Given the description of an element on the screen output the (x, y) to click on. 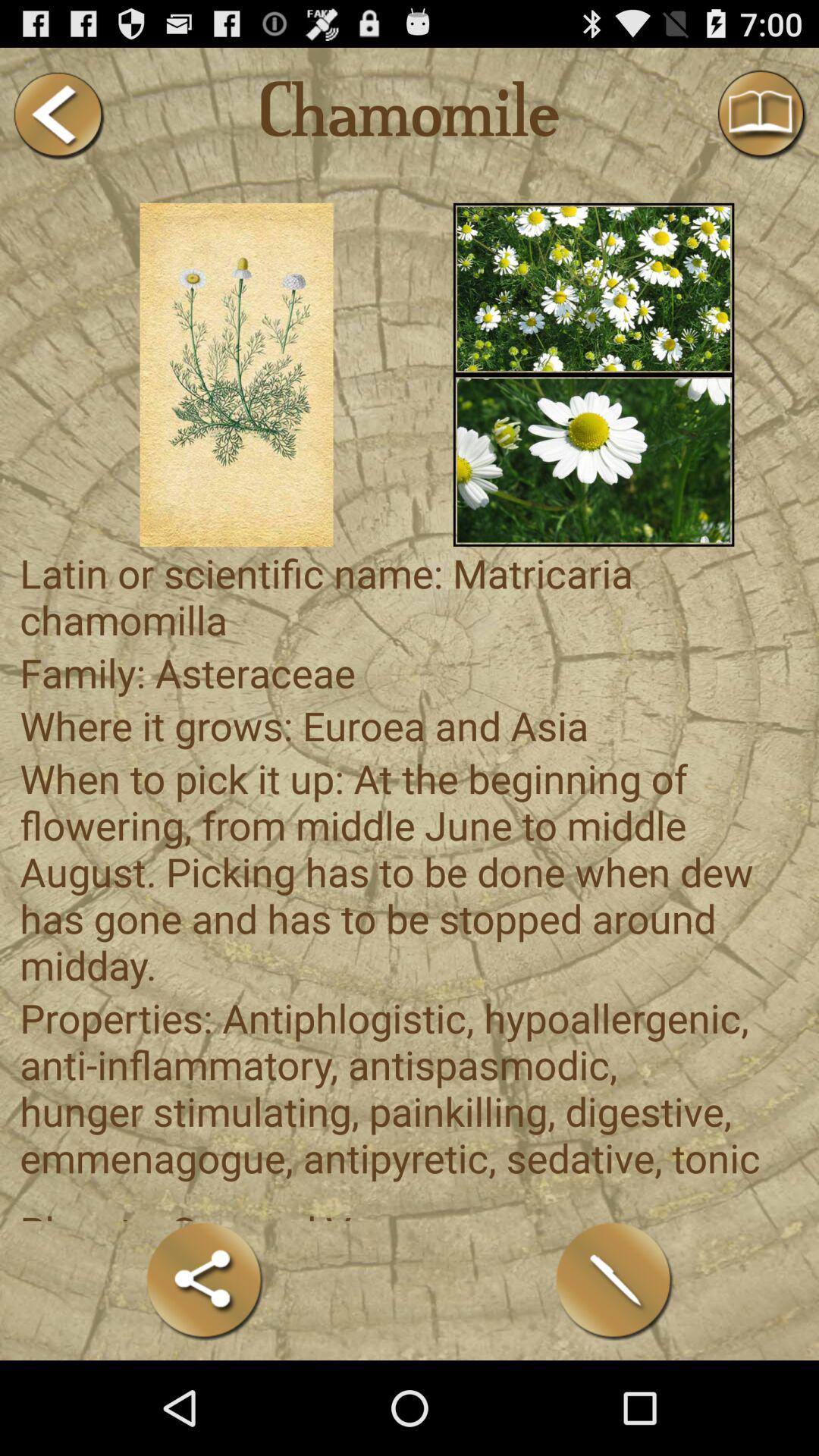
share (204, 1280)
